Given the description of an element on the screen output the (x, y) to click on. 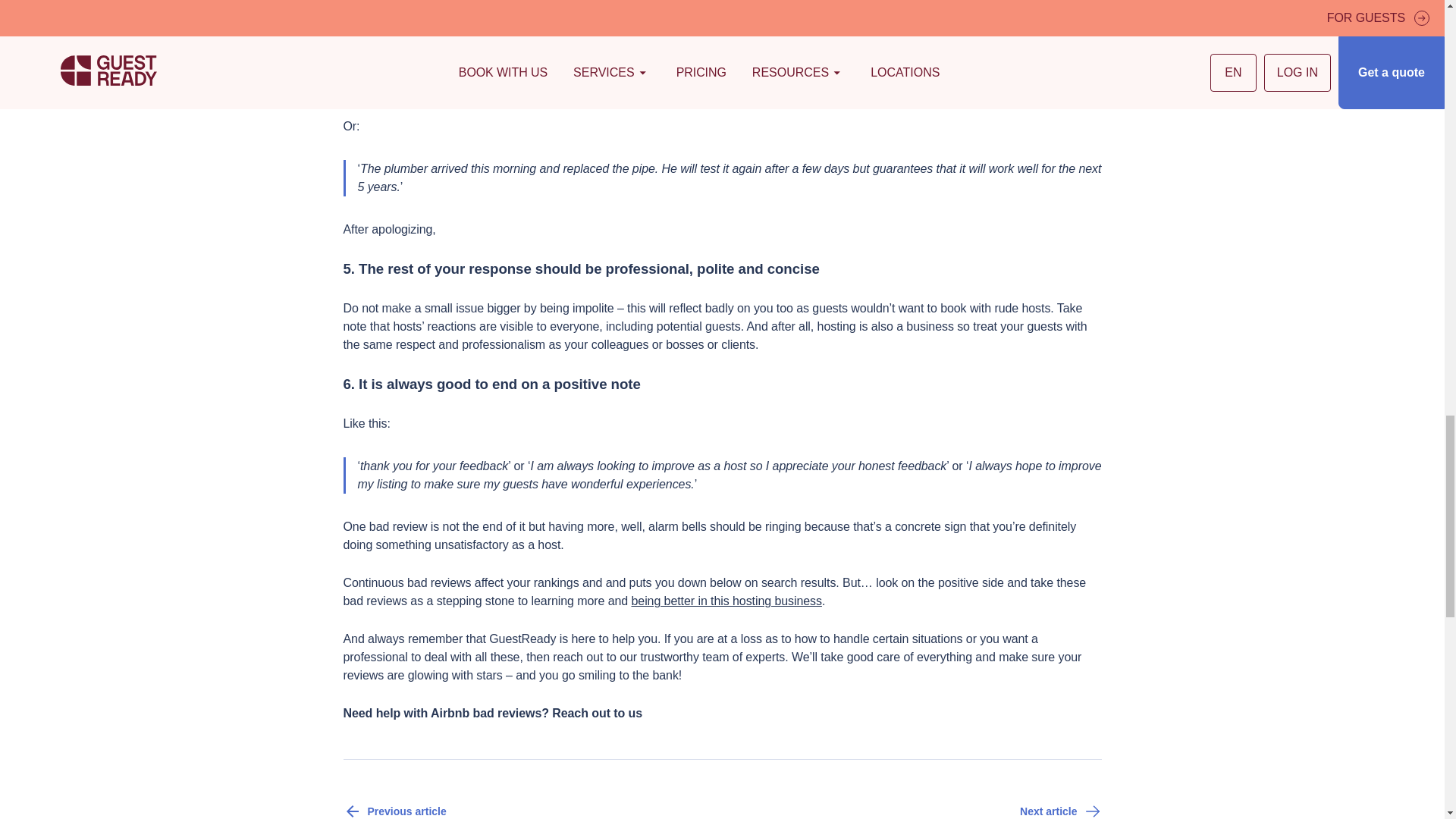
being better in this hosting business (725, 600)
